Given the description of an element on the screen output the (x, y) to click on. 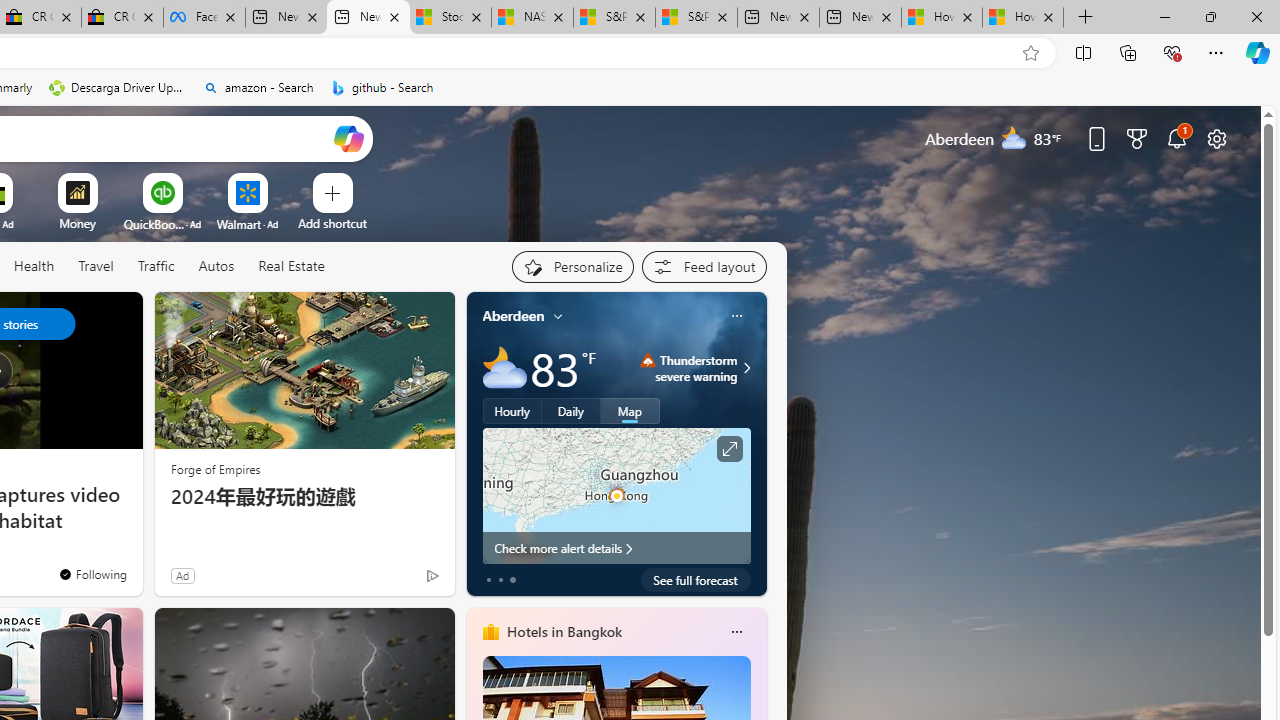
Feed settings (703, 266)
S&P 500, Nasdaq end lower, weighed by Nvidia dip | Watch (696, 17)
Check more alert details (616, 547)
Class: weather-arrow-glyph (746, 367)
Forge of Empires (215, 468)
tab-1 (500, 579)
amazon - Search (258, 88)
Larger map  (616, 495)
Real Estate (291, 265)
